Given the description of an element on the screen output the (x, y) to click on. 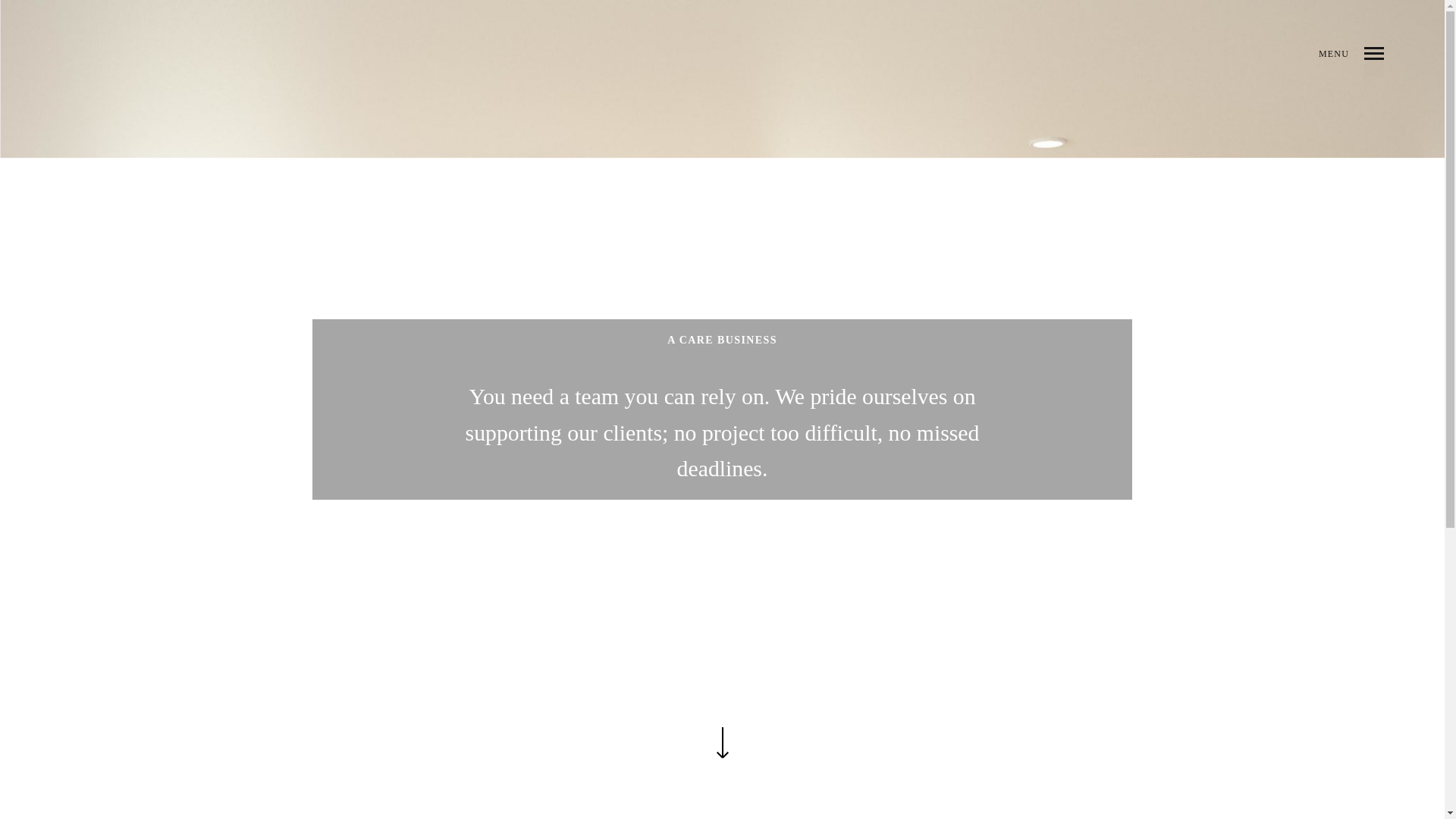
InHouse Design & Drafting Element type: hover (49, 49)
